Given the description of an element on the screen output the (x, y) to click on. 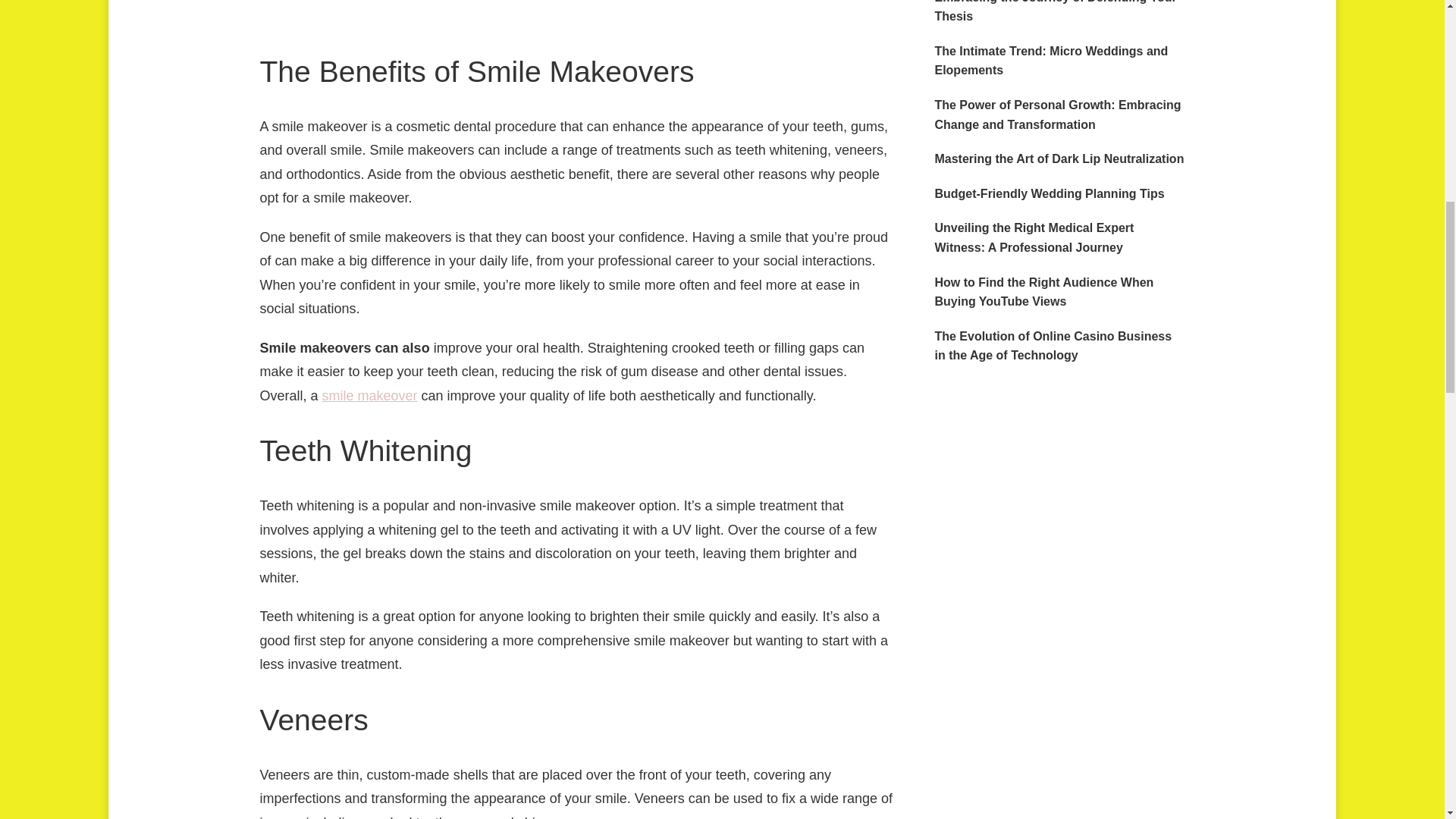
smile makeover (369, 395)
